Given the description of an element on the screen output the (x, y) to click on. 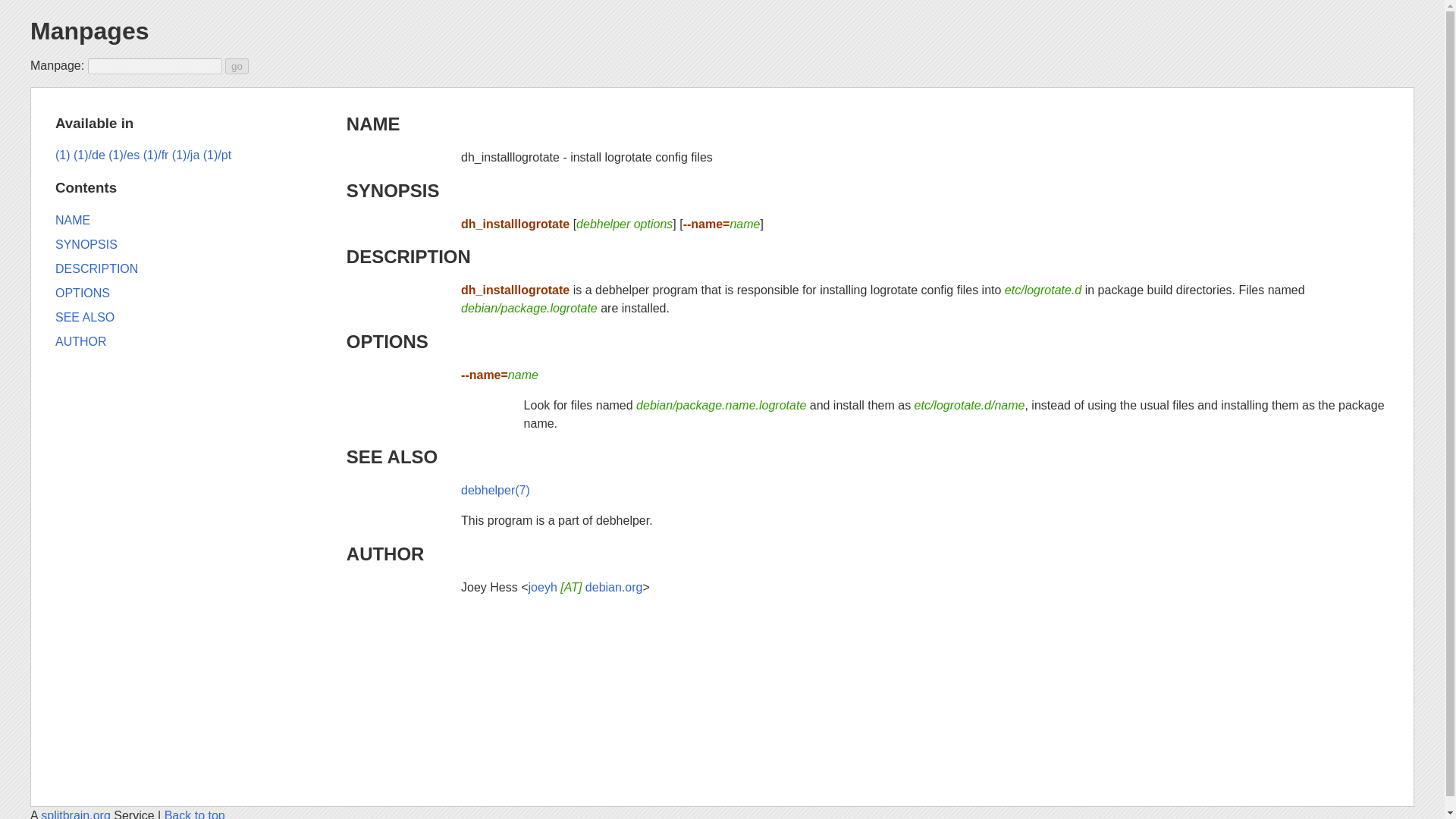
AUTHOR (385, 553)
SYNOPSIS (392, 190)
OPTIONS (387, 341)
SEE ALSO (392, 456)
AUTHOR (80, 341)
SEE ALSO (85, 317)
NAME (373, 123)
SYNOPSIS (86, 244)
DESCRIPTION (96, 268)
NAME (72, 219)
